Given the description of an element on the screen output the (x, y) to click on. 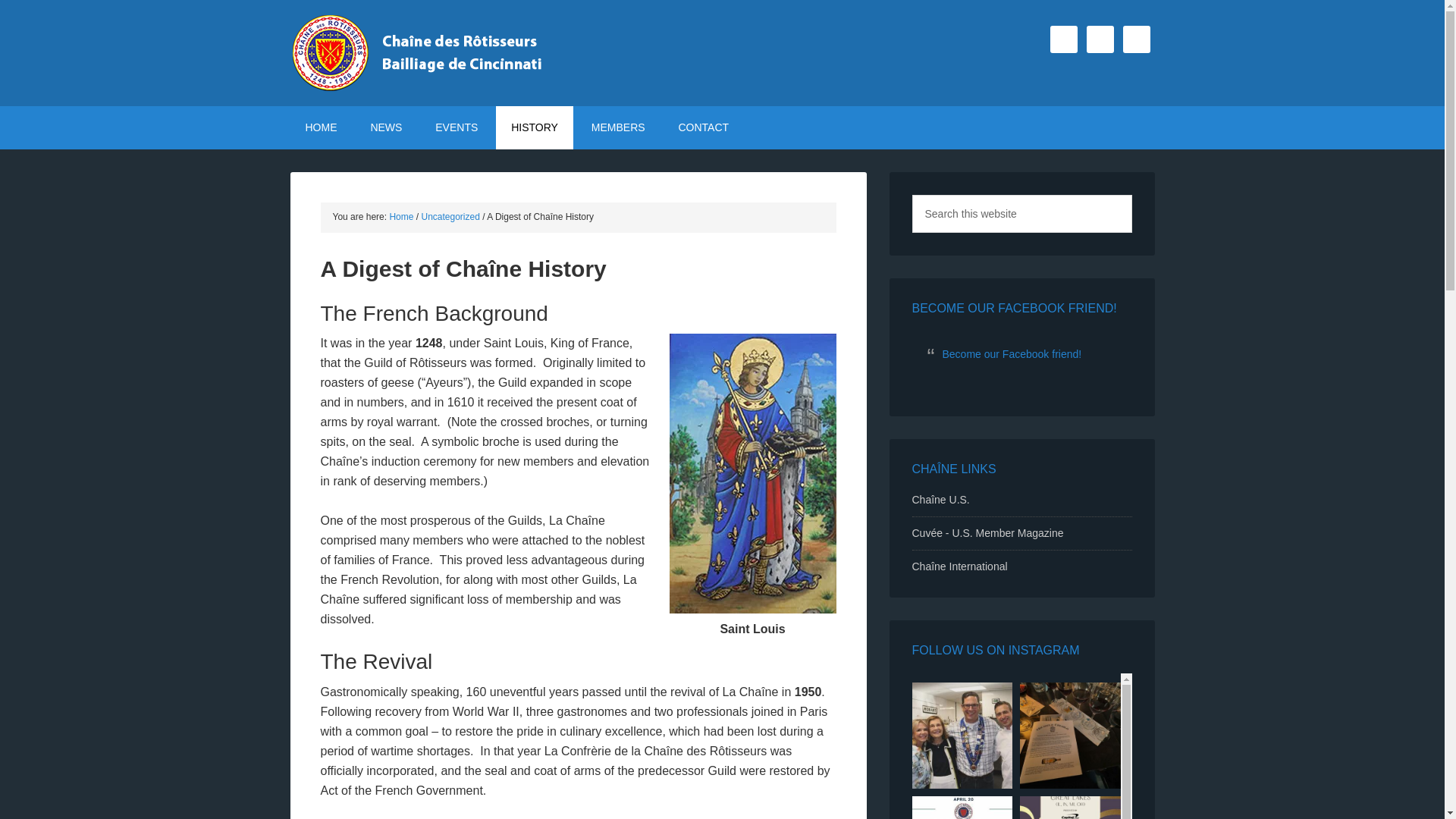
HOME (320, 127)
MEMBERS (618, 127)
NEWS (385, 127)
BECOME OUR FACEBOOK FRIEND! (1013, 308)
Uncategorized (451, 216)
Home (400, 216)
Become our Facebook friend! (1011, 354)
HISTORY (534, 127)
